Given the description of an element on the screen output the (x, y) to click on. 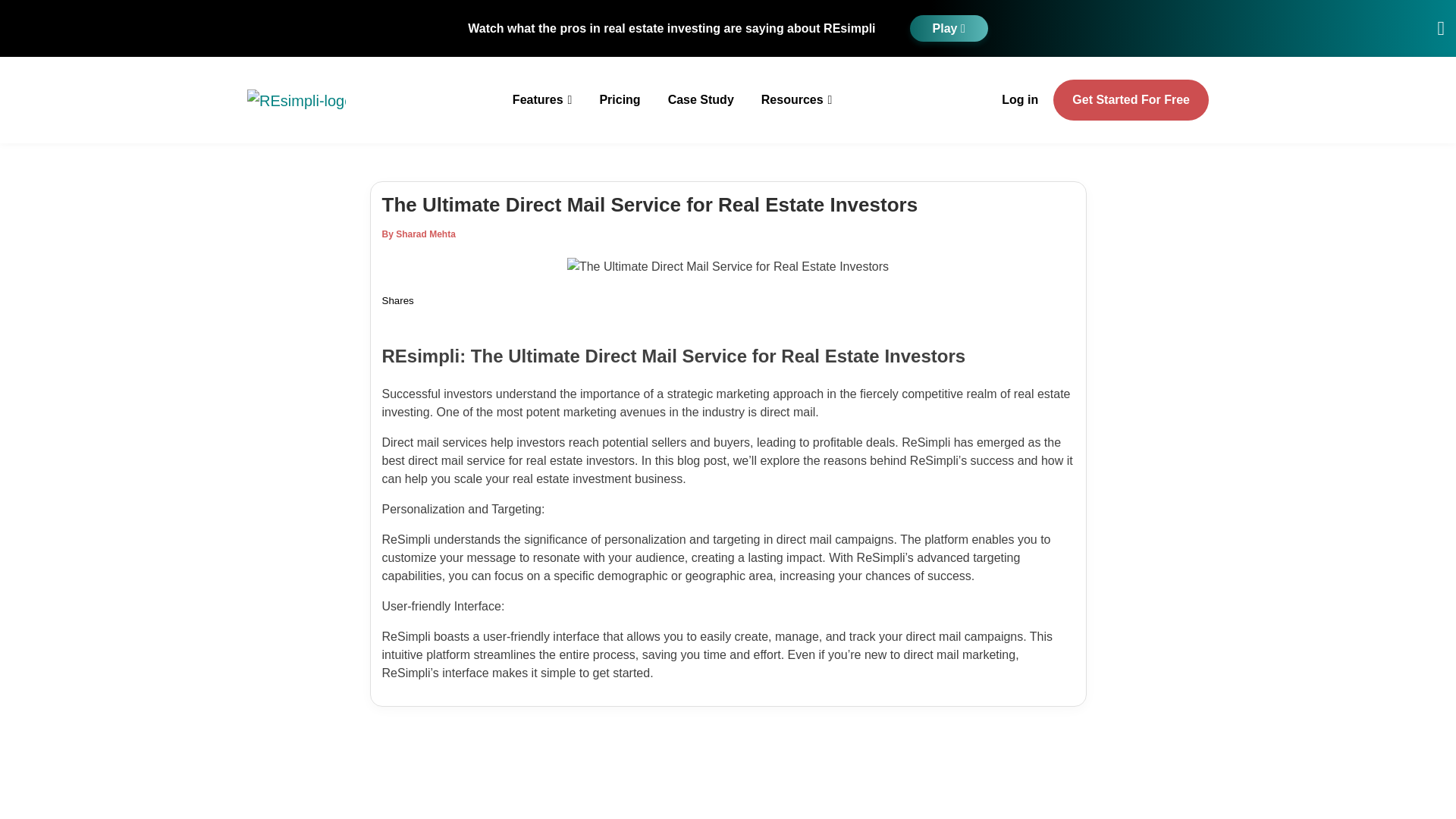
Resources (796, 100)
Play (949, 28)
REsimpli-logo (296, 100)
By Sharad Mehta (418, 234)
Get Started For Free (1130, 99)
Pricing (619, 100)
Log in (1019, 100)
Features (542, 100)
Case Study (700, 100)
